Given the description of an element on the screen output the (x, y) to click on. 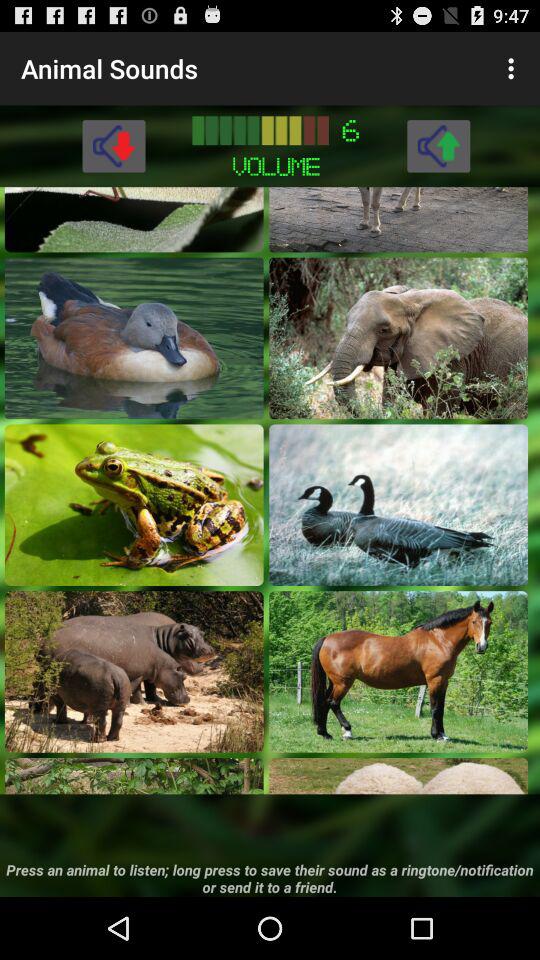
select duck sound (133, 337)
